Given the description of an element on the screen output the (x, y) to click on. 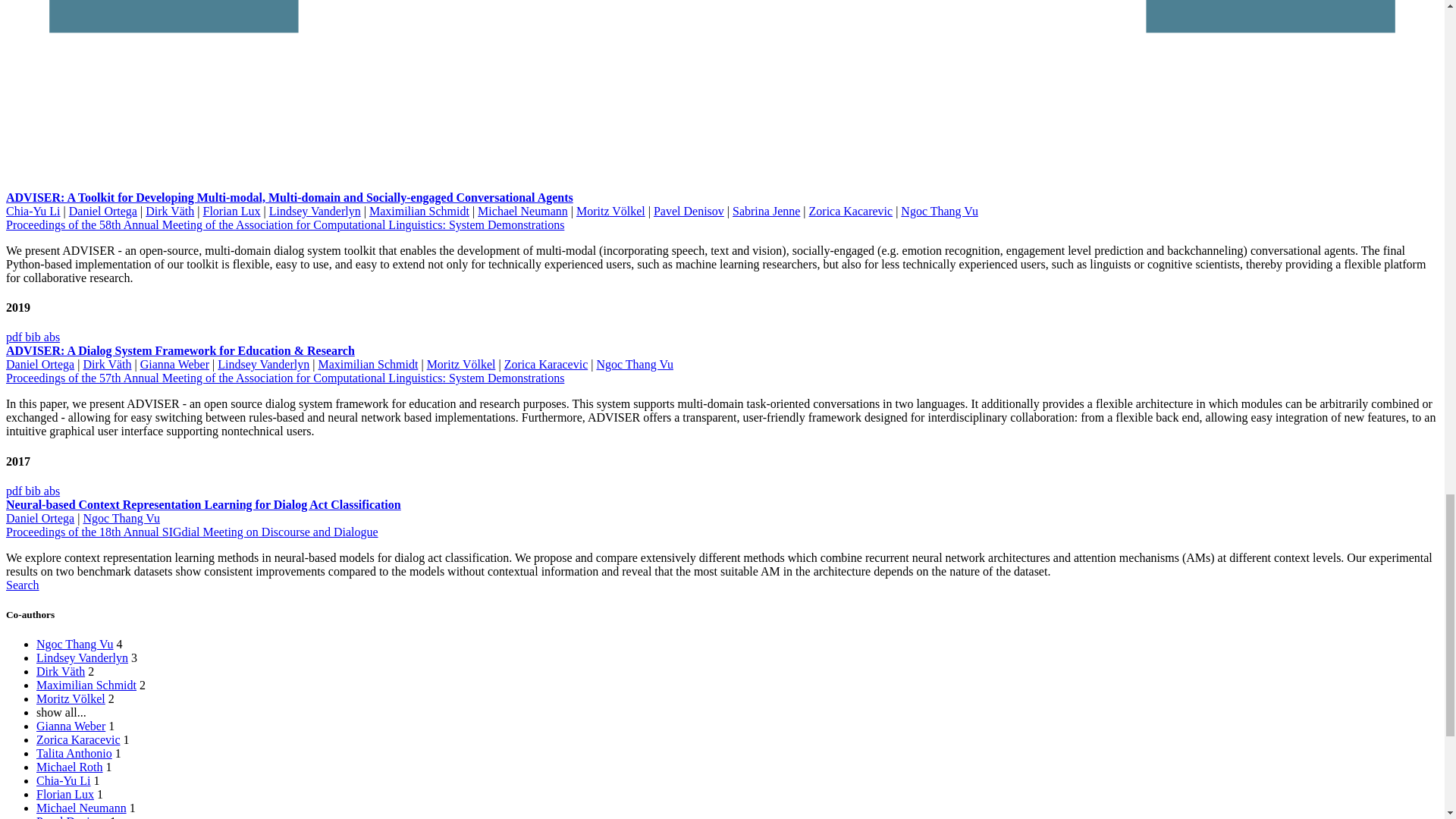
Daniel Ortega (102, 210)
Open PDF (14, 336)
Florian Lux (231, 210)
Pavel Denisov (688, 210)
abs (51, 336)
Show Abstract (51, 490)
Zorica Kacarevic (851, 210)
Show Abstract (51, 336)
pdf (14, 336)
Sabrina Jenne (765, 210)
Export to BibTeX (33, 336)
Maximilian Schmidt (418, 210)
Open PDF (14, 490)
Chia-Yu Li (33, 210)
